Given the description of an element on the screen output the (x, y) to click on. 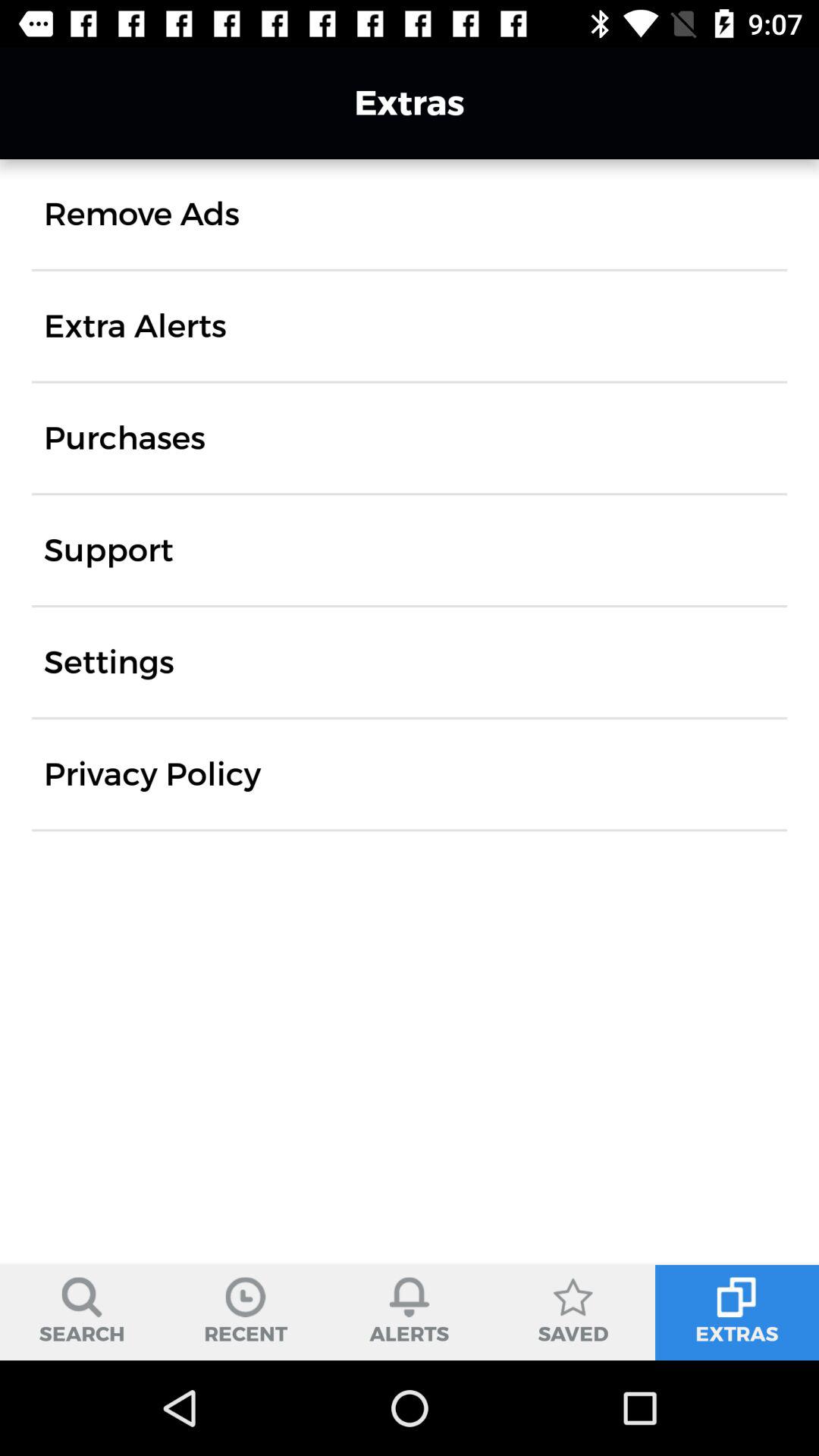
swipe until privacy policy item (152, 774)
